Given the description of an element on the screen output the (x, y) to click on. 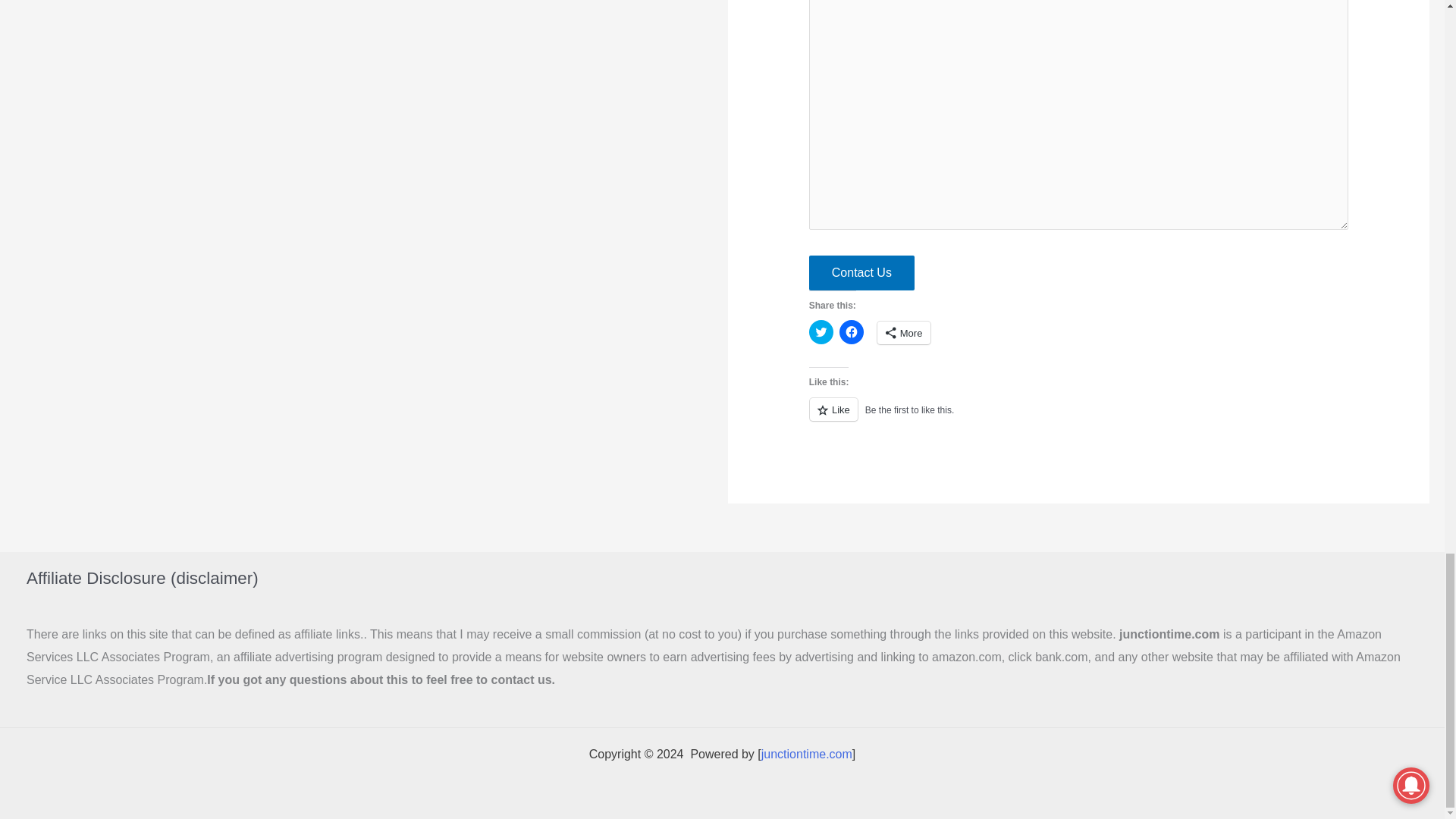
More (904, 332)
Click to share on Facebook (851, 331)
Contact Us (861, 272)
junctiontime.com (806, 753)
Like or Reblog (1079, 417)
Click to share on Twitter (820, 331)
